Given the description of an element on the screen output the (x, y) to click on. 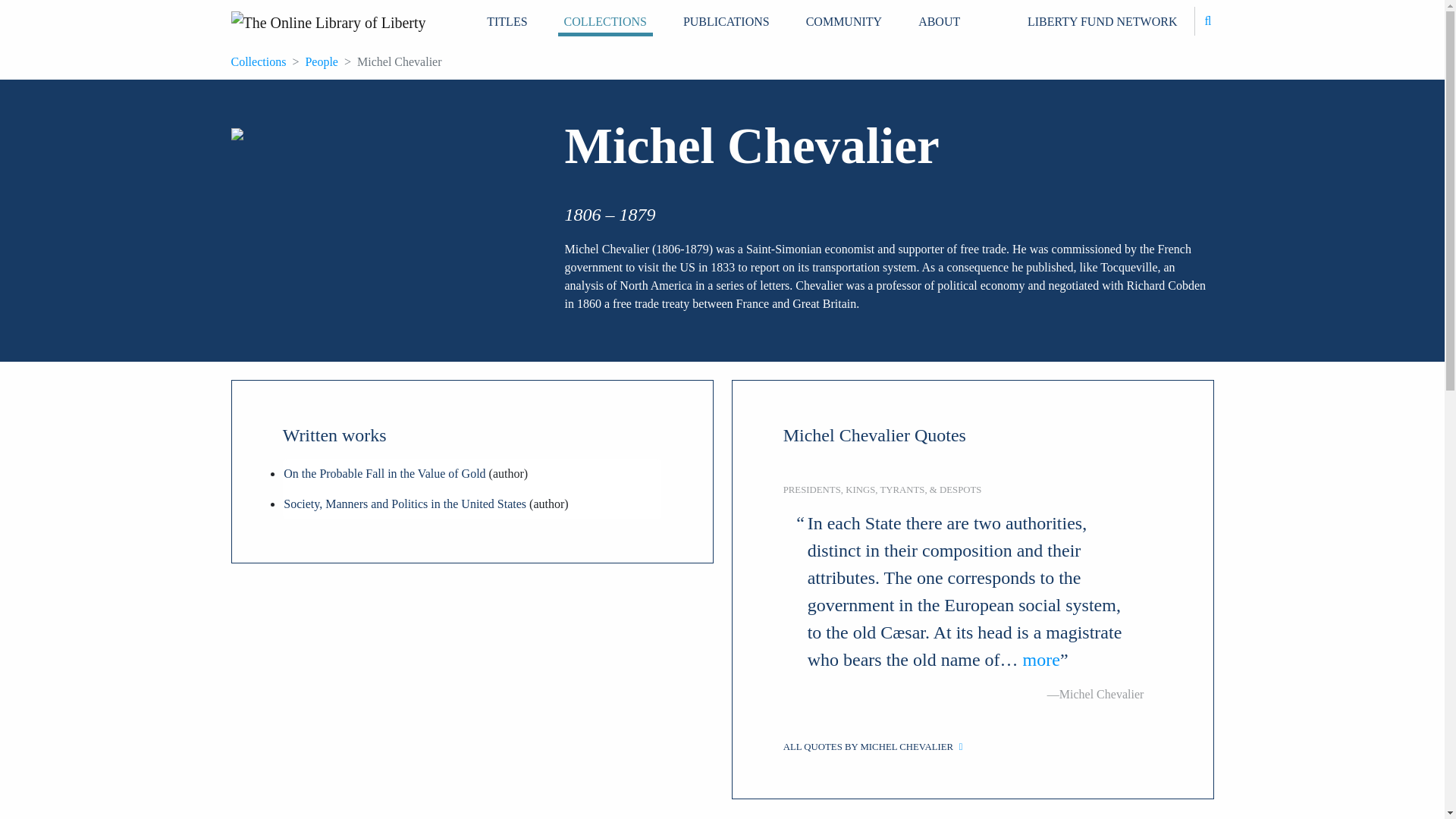
PUBLICATIONS (726, 21)
People (320, 61)
ABOUT (939, 21)
LIBERTY FUND NETWORK (1102, 21)
On the Probable Fall in the Value of Gold (383, 472)
COLLECTIONS (604, 21)
Collections (257, 61)
ALL QUOTES BY MICHEL CHEVALIER (972, 747)
TITLES (506, 21)
COMMUNITY (843, 21)
